Given the description of an element on the screen output the (x, y) to click on. 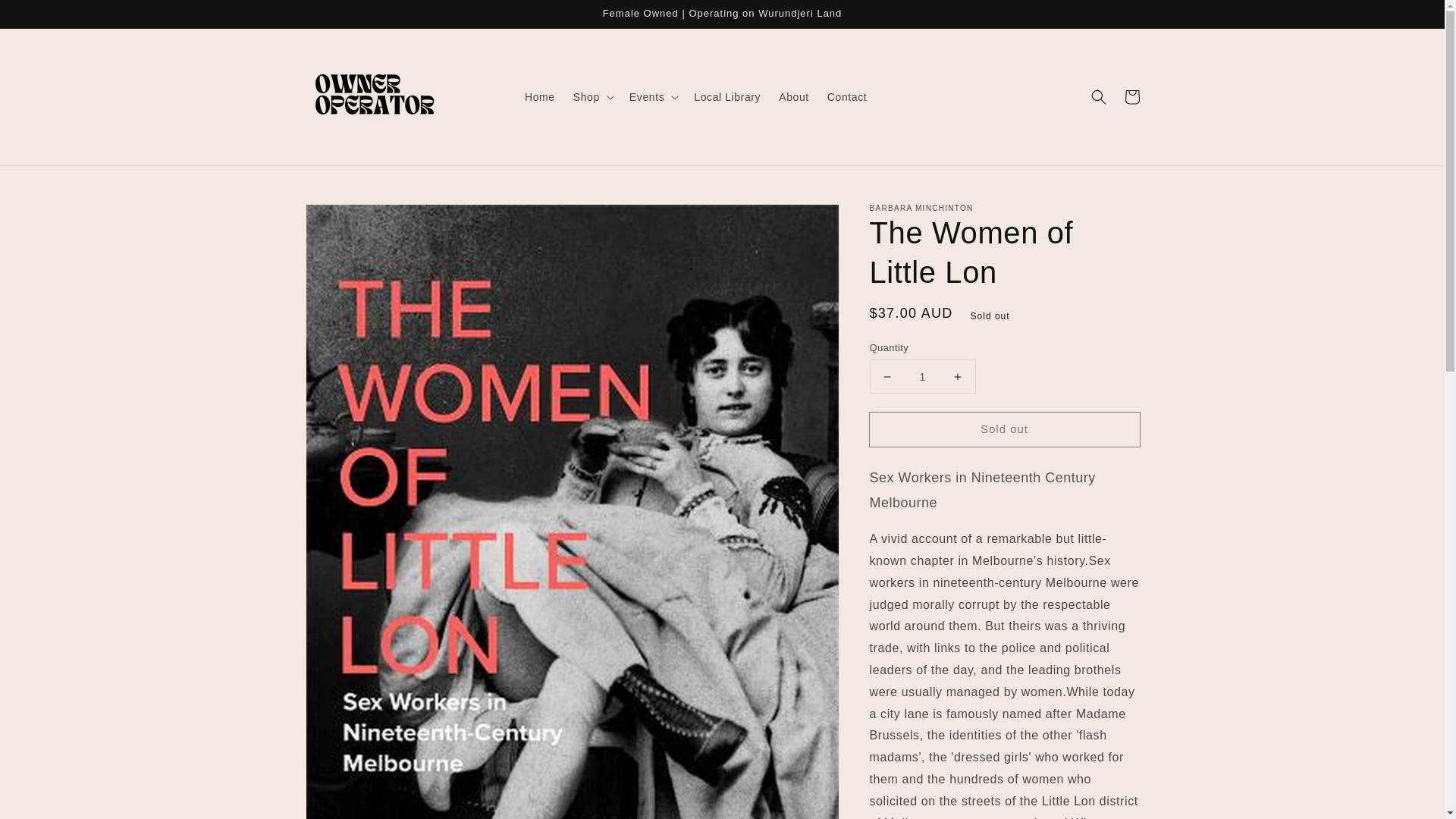
Skip to content (45, 16)
Local Library (727, 97)
About (794, 97)
Home (539, 97)
1 (922, 376)
Contact (847, 97)
